Given the description of an element on the screen output the (x, y) to click on. 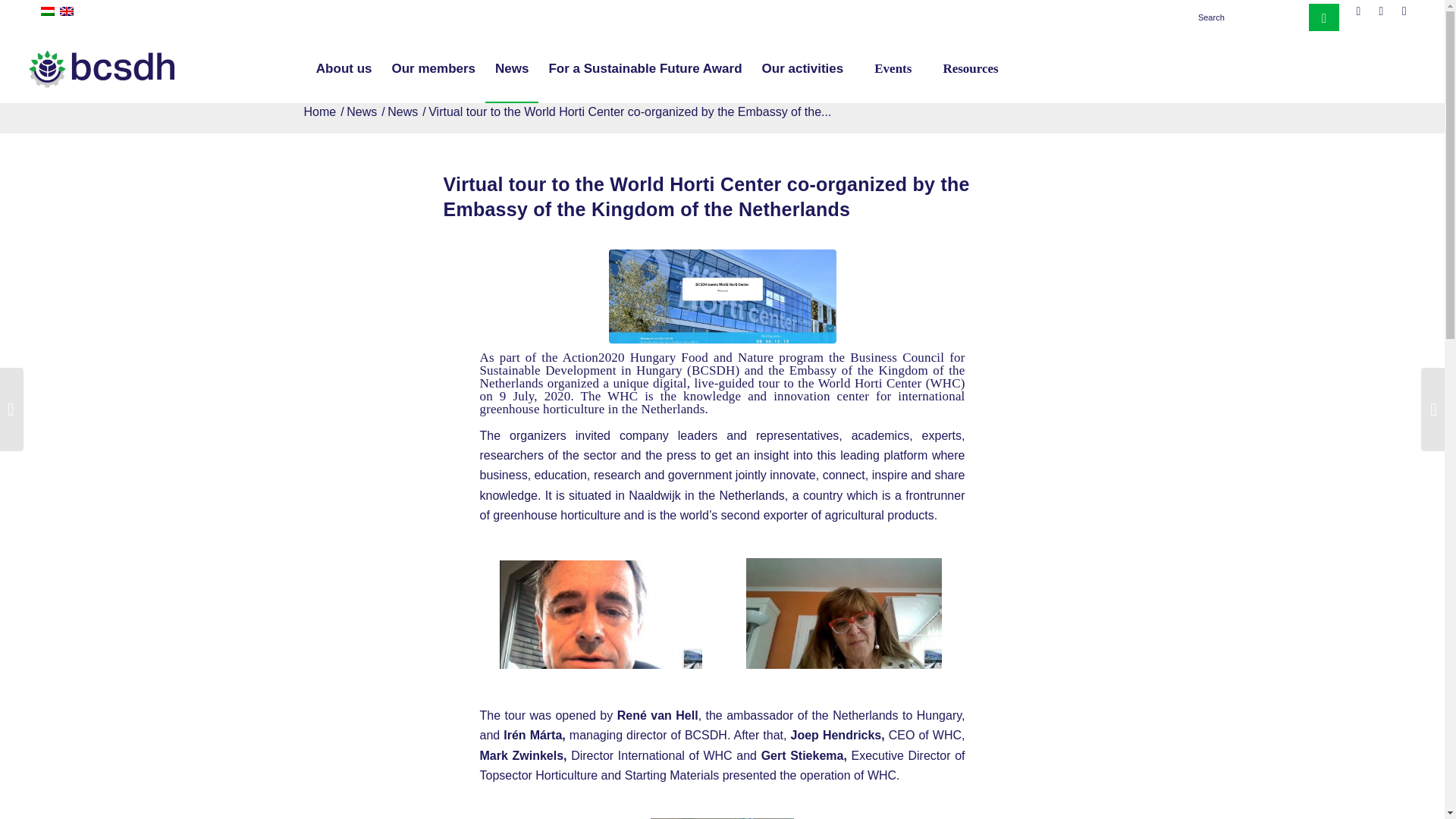
About us (343, 69)
Our members (433, 69)
Resources (964, 69)
For a Sustainable Future Award (644, 69)
Our activities (802, 69)
Events (887, 69)
